Given the description of an element on the screen output the (x, y) to click on. 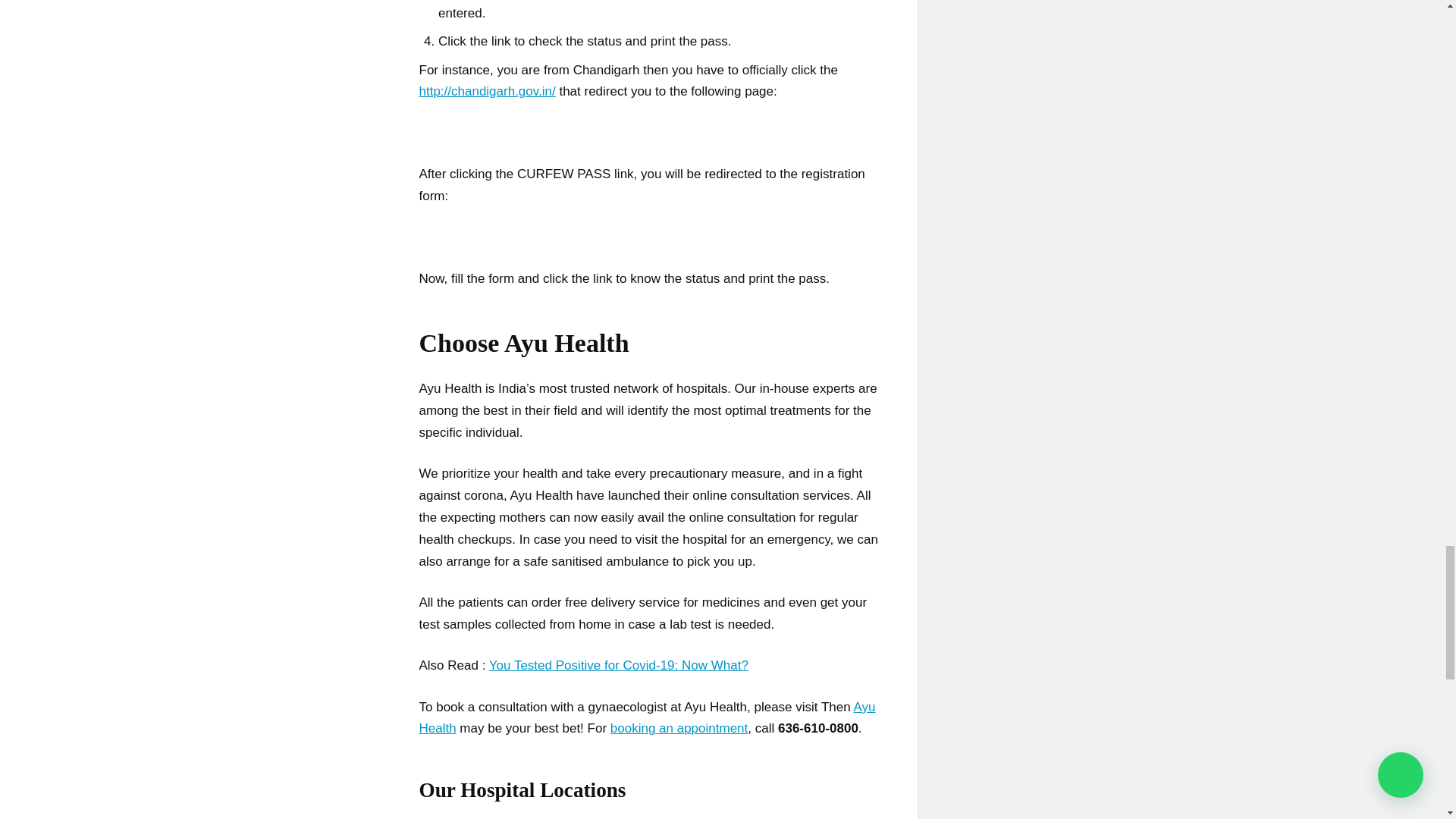
You Tested Positive for Covid-19: Now What? (618, 665)
Ayu Health (647, 718)
booking an appointment (679, 728)
